Given the description of an element on the screen output the (x, y) to click on. 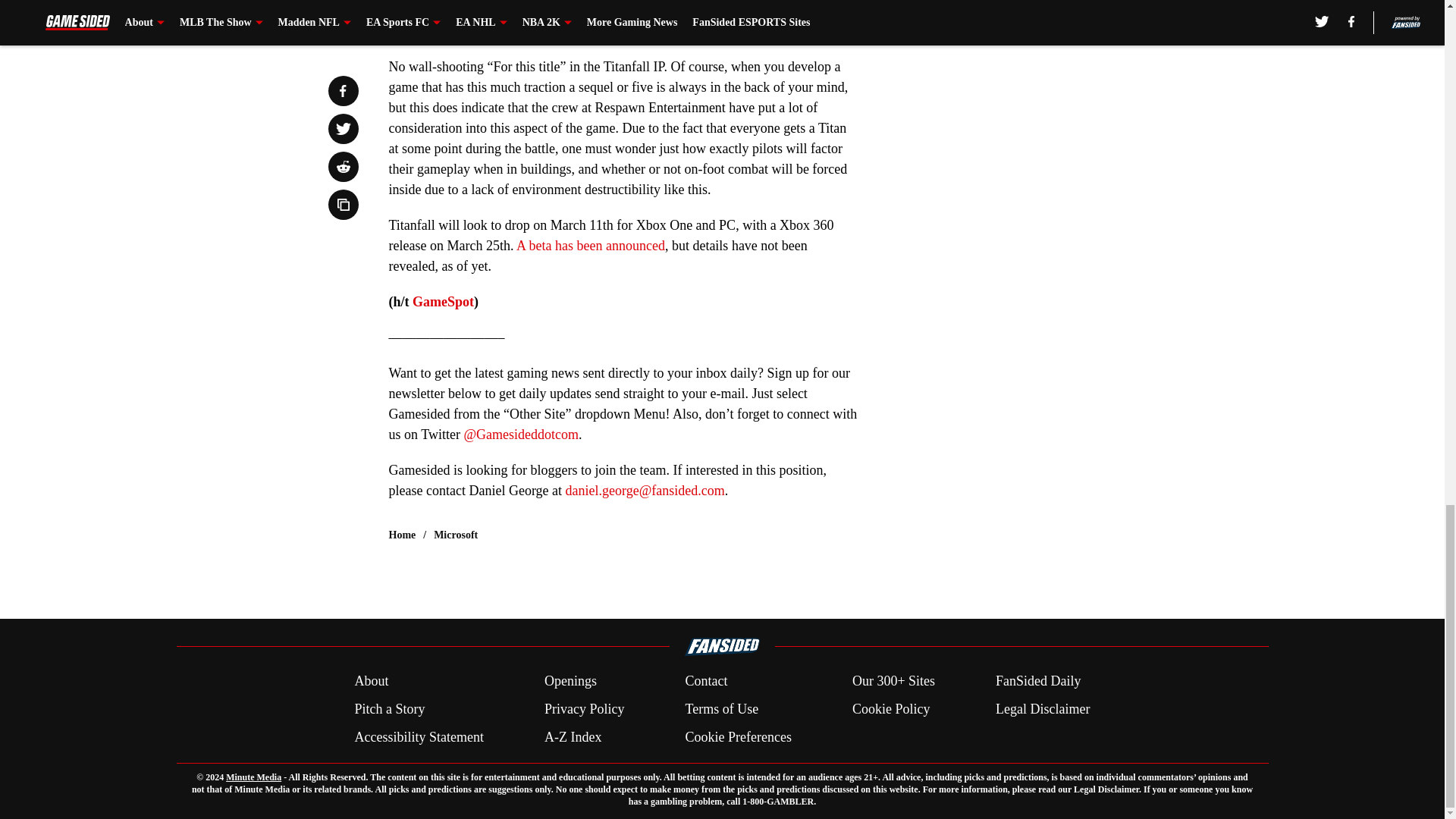
Pitch a Story (389, 709)
About (370, 680)
GameSpot (443, 301)
Privacy Policy (584, 709)
Microsoft (455, 534)
Home (401, 534)
Openings (570, 680)
A beta has been announced (590, 245)
Contact (705, 680)
FanSided Daily (1038, 680)
